Given the description of an element on the screen output the (x, y) to click on. 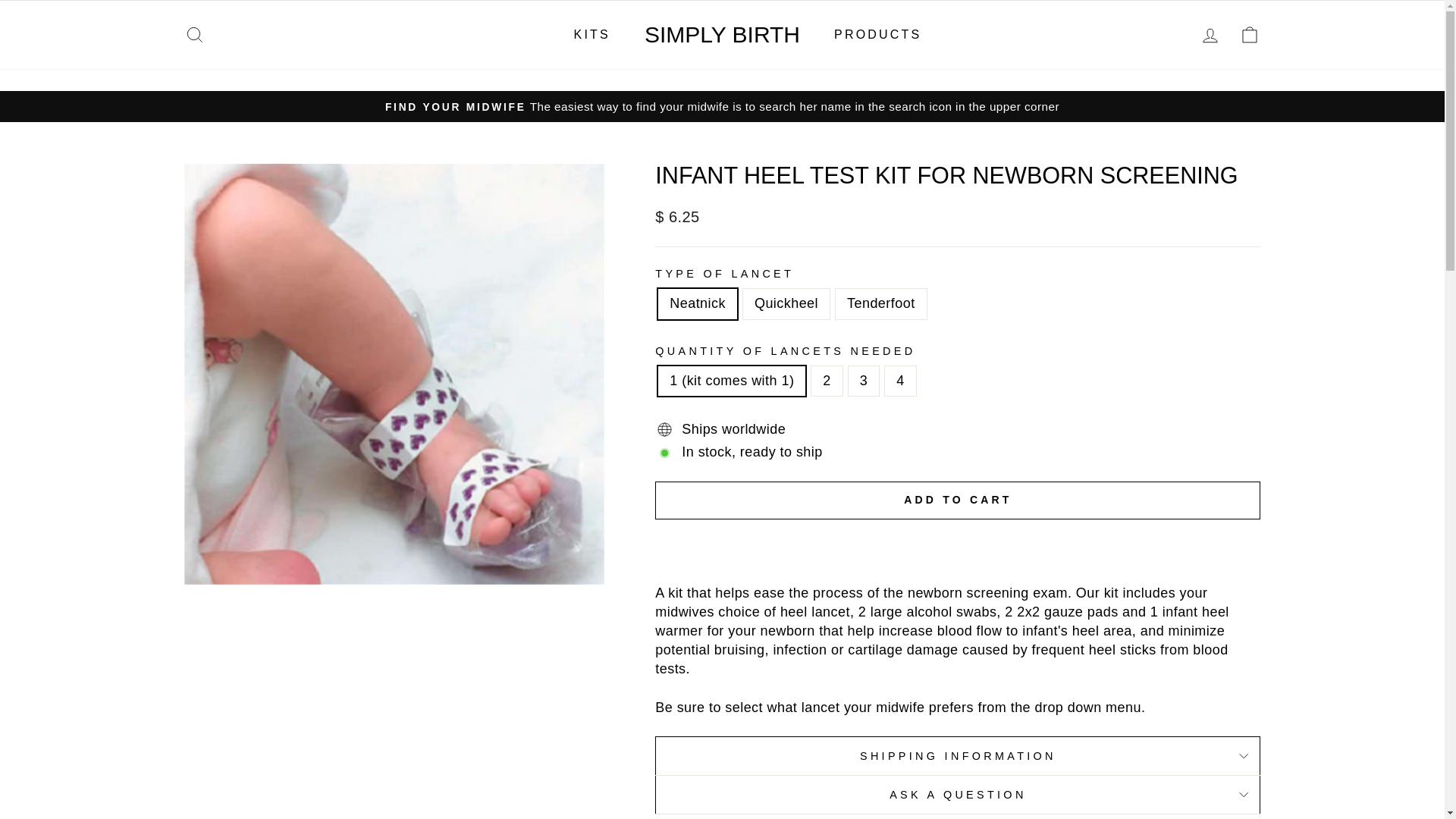
PRODUCTS (877, 34)
KITS (591, 34)
LOG IN (1210, 34)
SEARCH (194, 34)
SIMPLY BIRTH (722, 34)
